Given the description of an element on the screen output the (x, y) to click on. 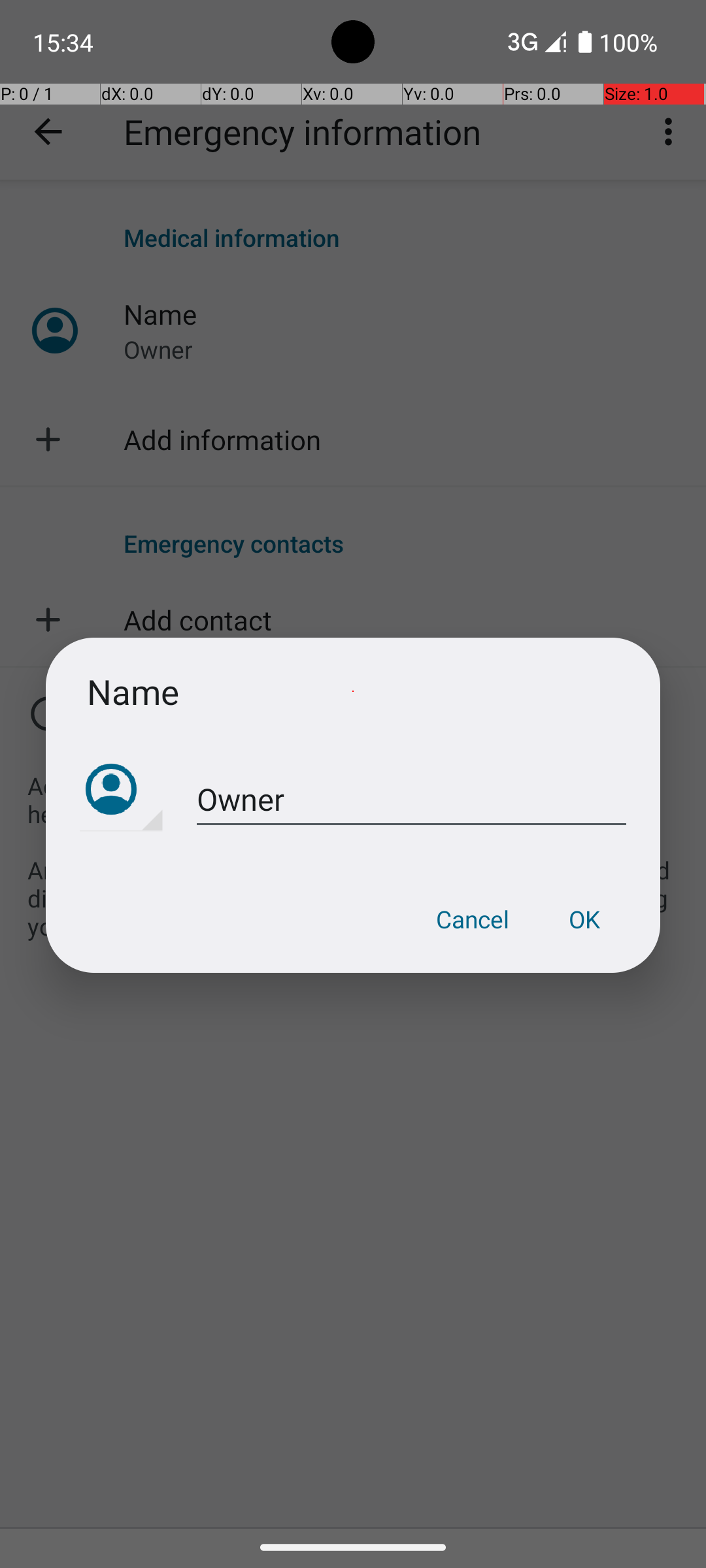
Select photo Element type: android.widget.ImageView (121, 790)
Owner Element type: android.widget.EditText (411, 799)
